Given the description of an element on the screen output the (x, y) to click on. 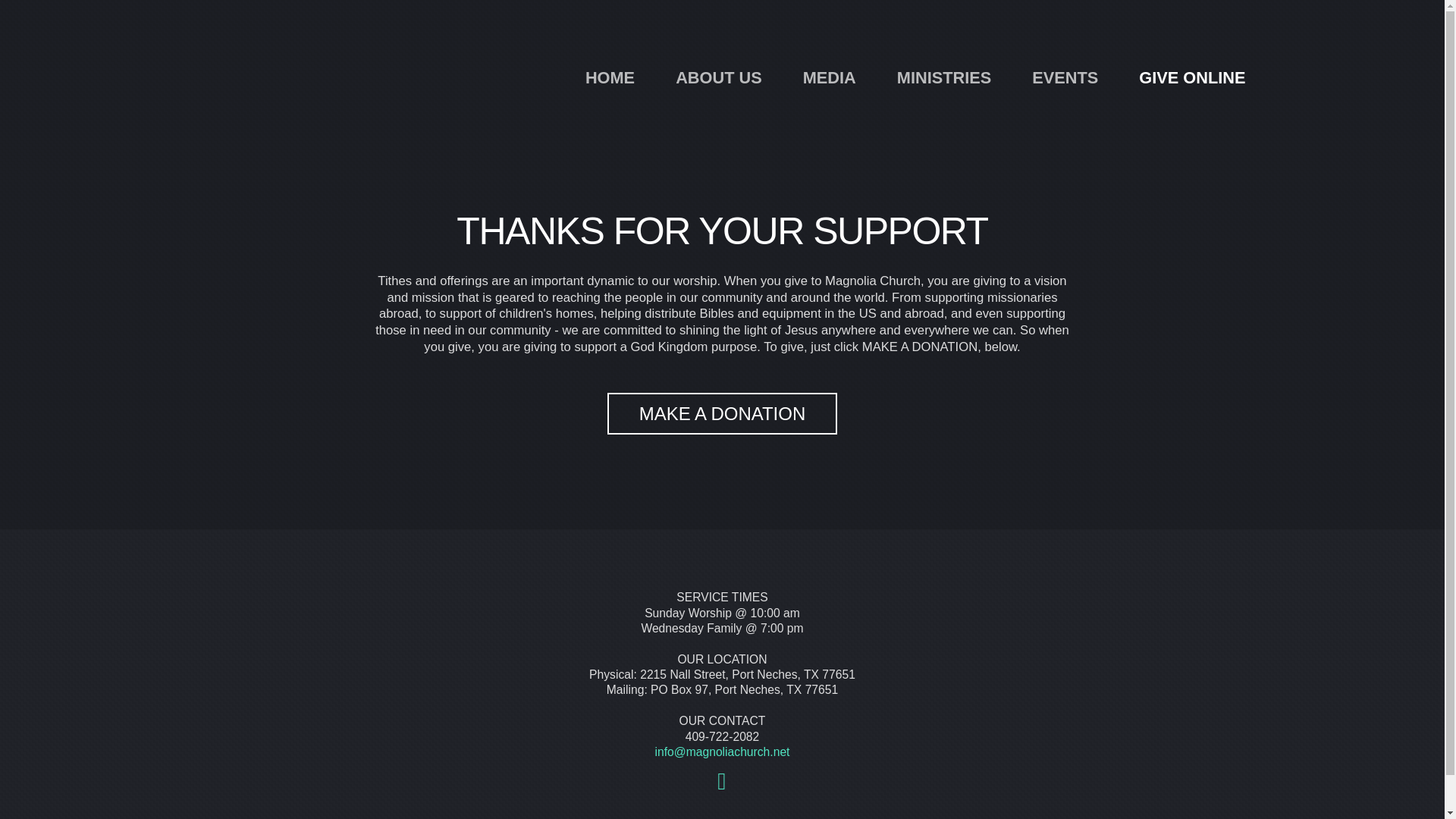
ABOUT US (719, 77)
HOME (609, 77)
MINISTRIES (943, 77)
MEDIA (829, 77)
